Given the description of an element on the screen output the (x, y) to click on. 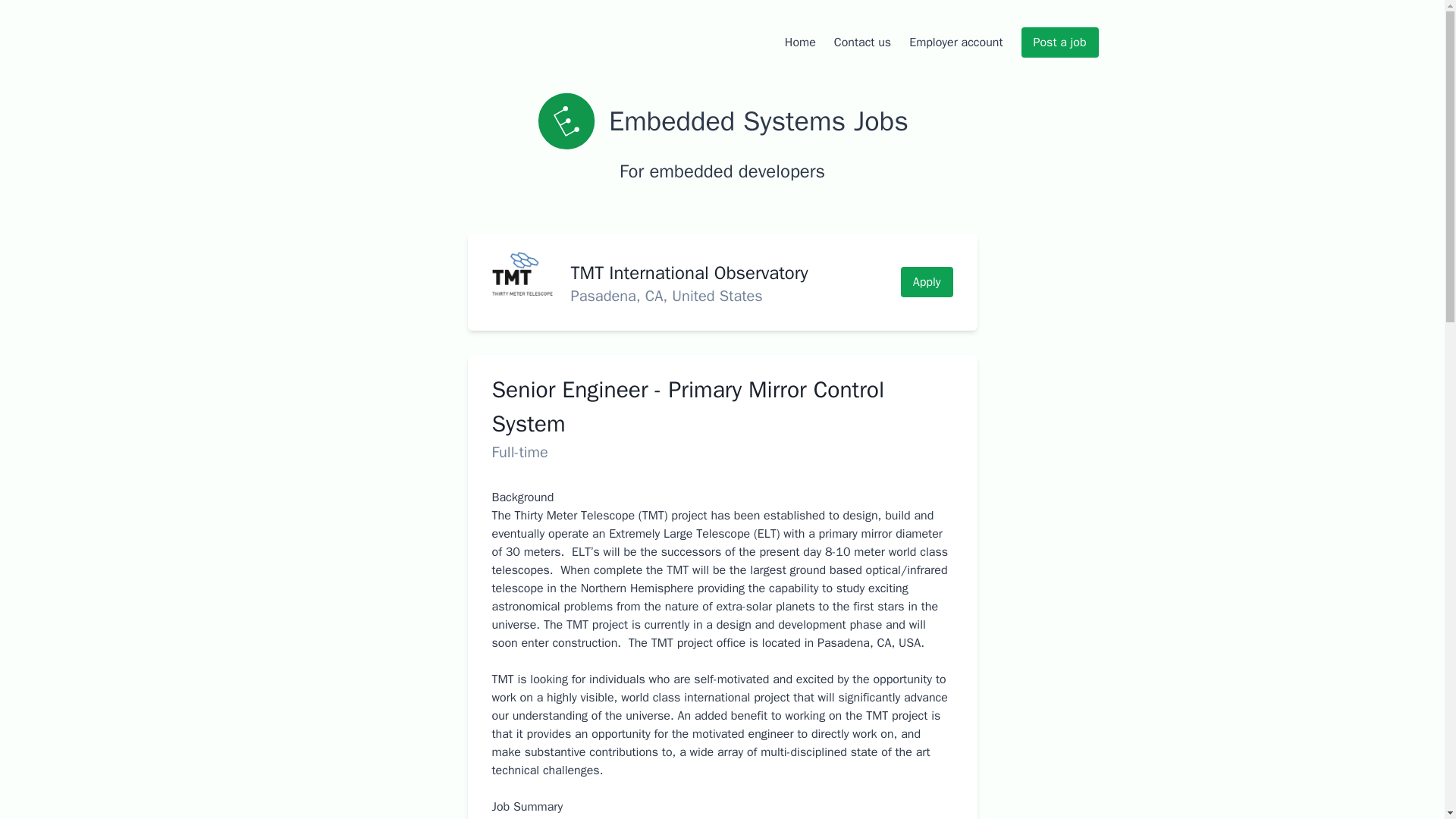
Contact us (862, 42)
Home (799, 42)
Post a job (1060, 42)
Embedded Systems Jobs (721, 120)
Go to the jobs list (721, 120)
Apply (927, 281)
Employer account (955, 42)
Embedded Systems Jobs (565, 120)
